Given the description of an element on the screen output the (x, y) to click on. 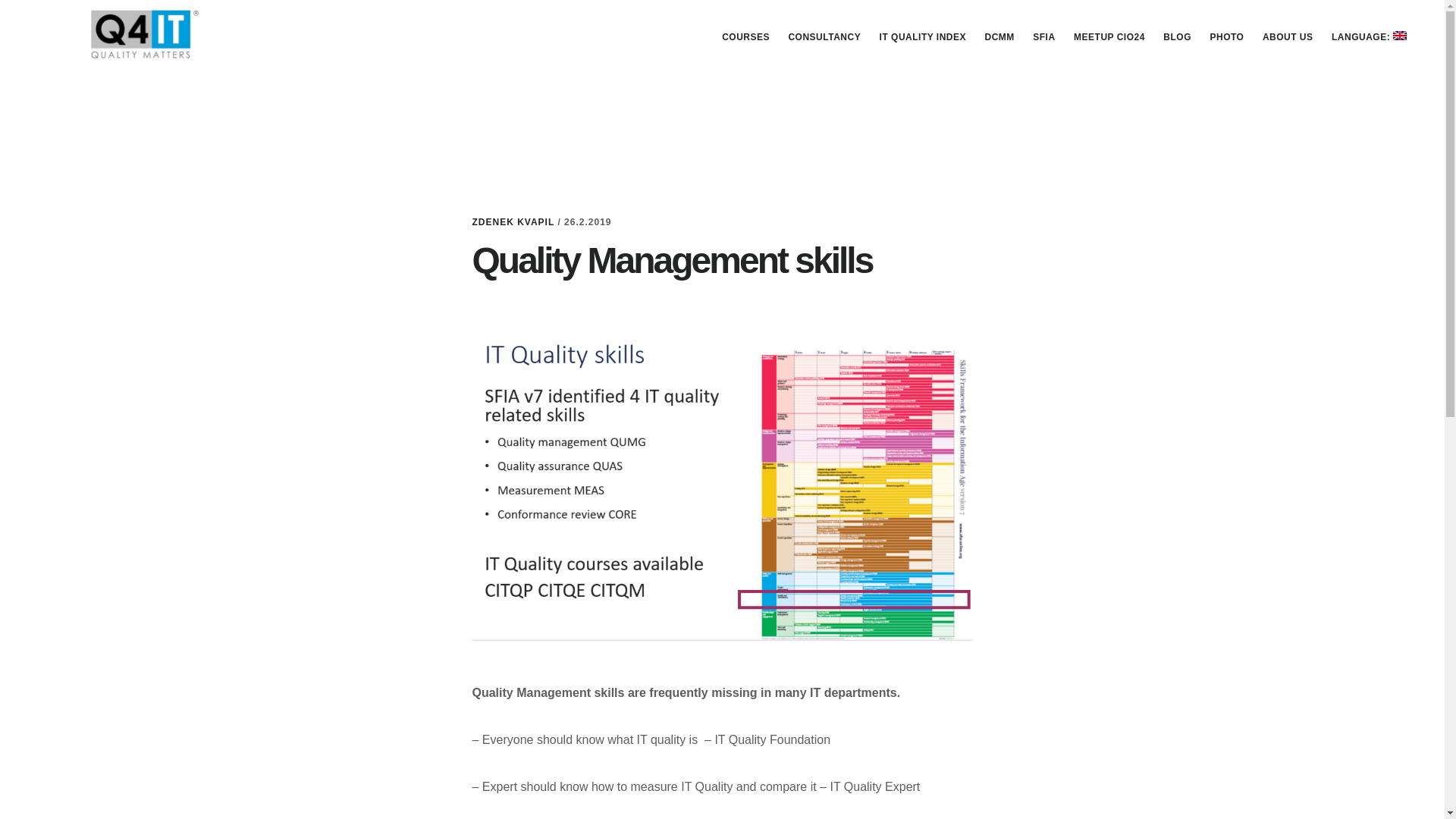
SFIA (1043, 37)
COURSES (745, 37)
English (1368, 36)
DCMM (999, 37)
MEETUP CIO24 (1109, 37)
CONSULTANCY (823, 37)
IT QUALITY INDEX (923, 37)
Q4IT (143, 32)
